Given the description of an element on the screen output the (x, y) to click on. 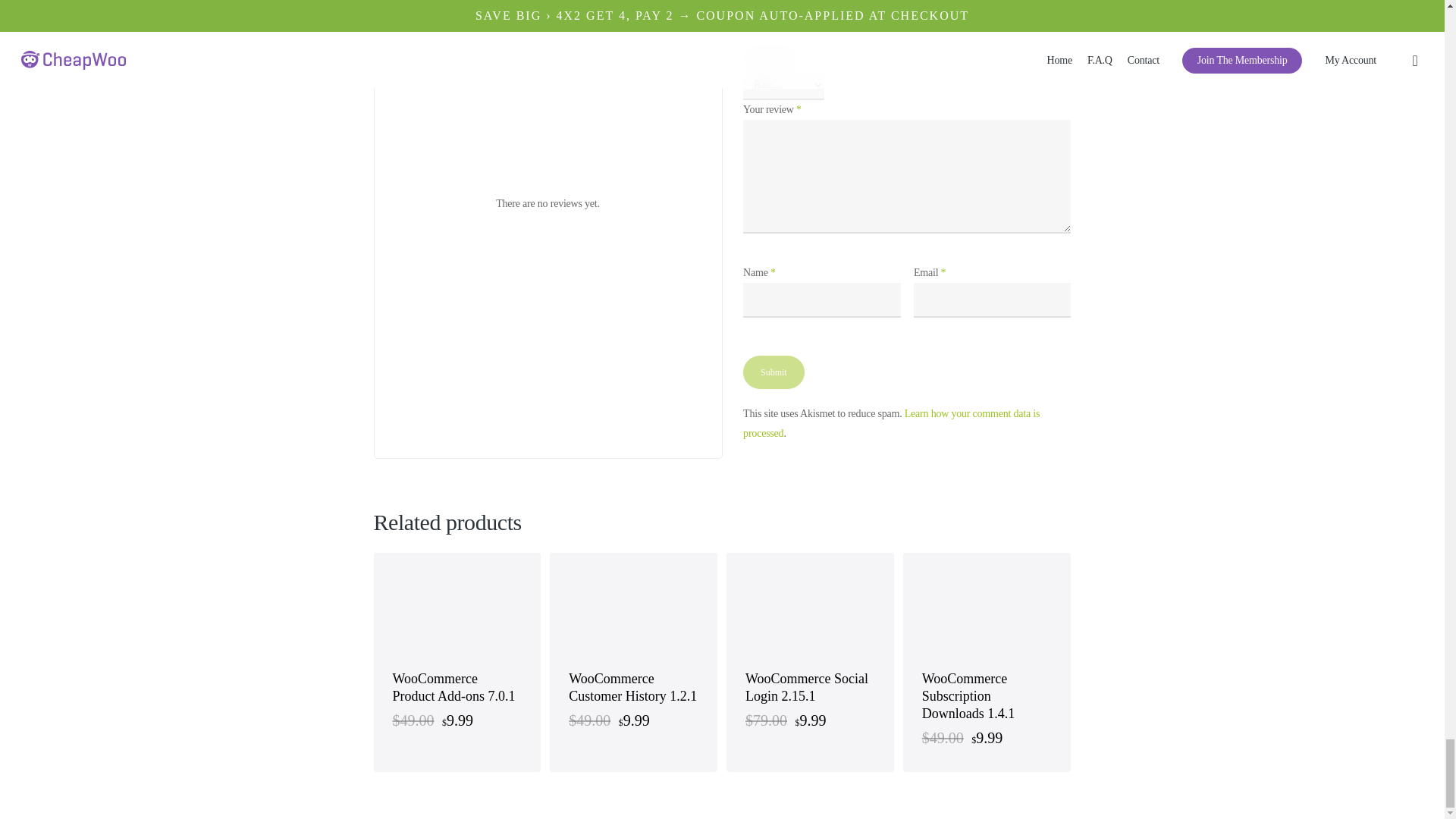
Learn how your comment data is processed (890, 422)
WooCommerce Social Login 2.15.1 (810, 687)
Submit (773, 372)
Submit (773, 372)
WooCommerce Customer History 1.2.1 (633, 687)
WooCommerce Subscription Downloads 1.4.1 (986, 696)
WooCommerce Product Add-ons 7.0.1 (457, 687)
